Given the description of an element on the screen output the (x, y) to click on. 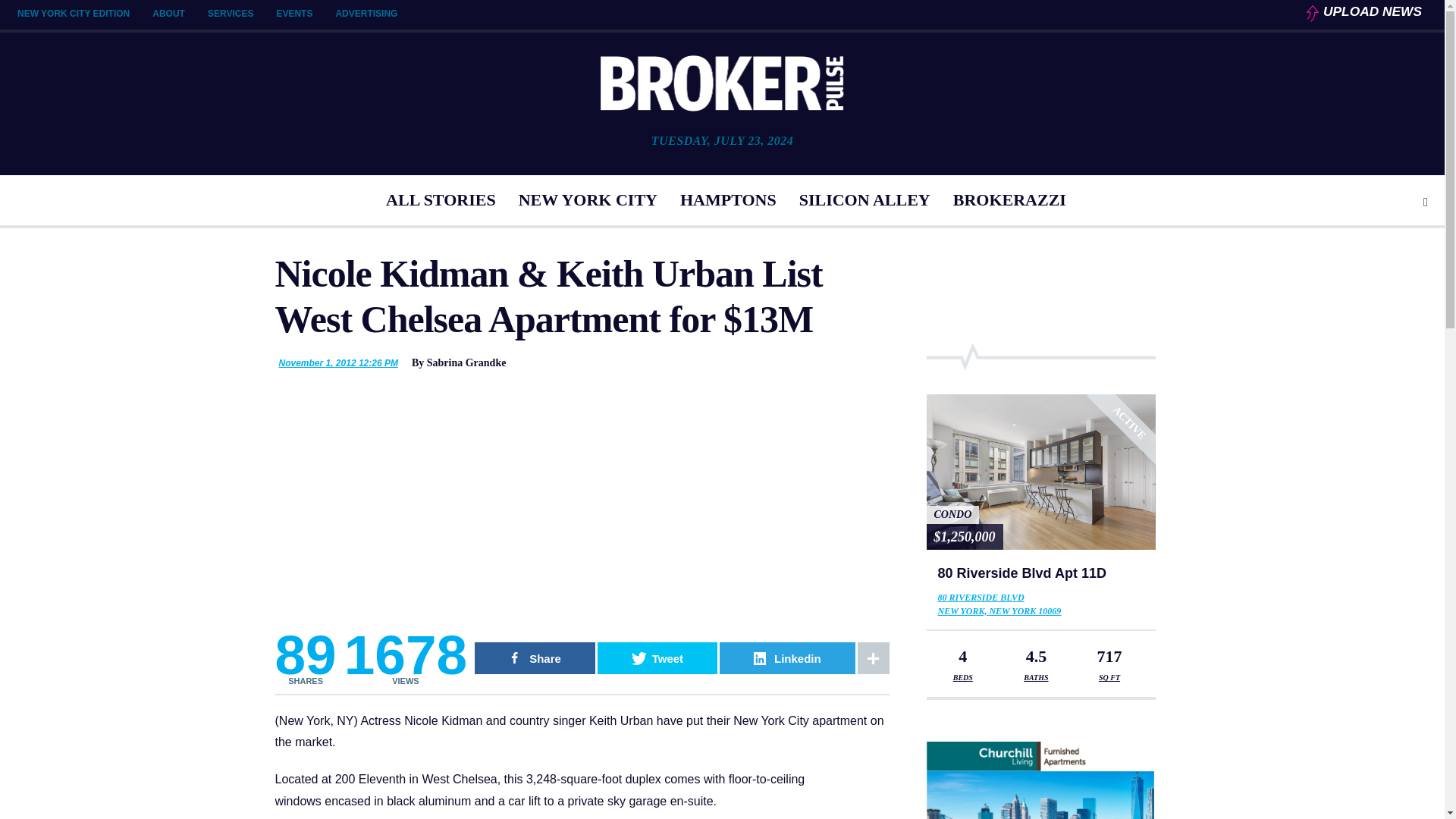
Advertisement (581, 505)
BROKERAZZI (1009, 200)
Tweet (656, 658)
SILICON ALLEY (864, 200)
EVENTS (294, 13)
ADVERTISING (365, 13)
Linkedin (787, 658)
NEW YORK CITY EDITION (73, 13)
SERVICES (230, 13)
Search (1425, 202)
Share (534, 658)
ALL STORIES (440, 200)
Sabrina Grandke (466, 362)
ABOUT (168, 13)
HAMPTONS (727, 200)
